Given the description of an element on the screen output the (x, y) to click on. 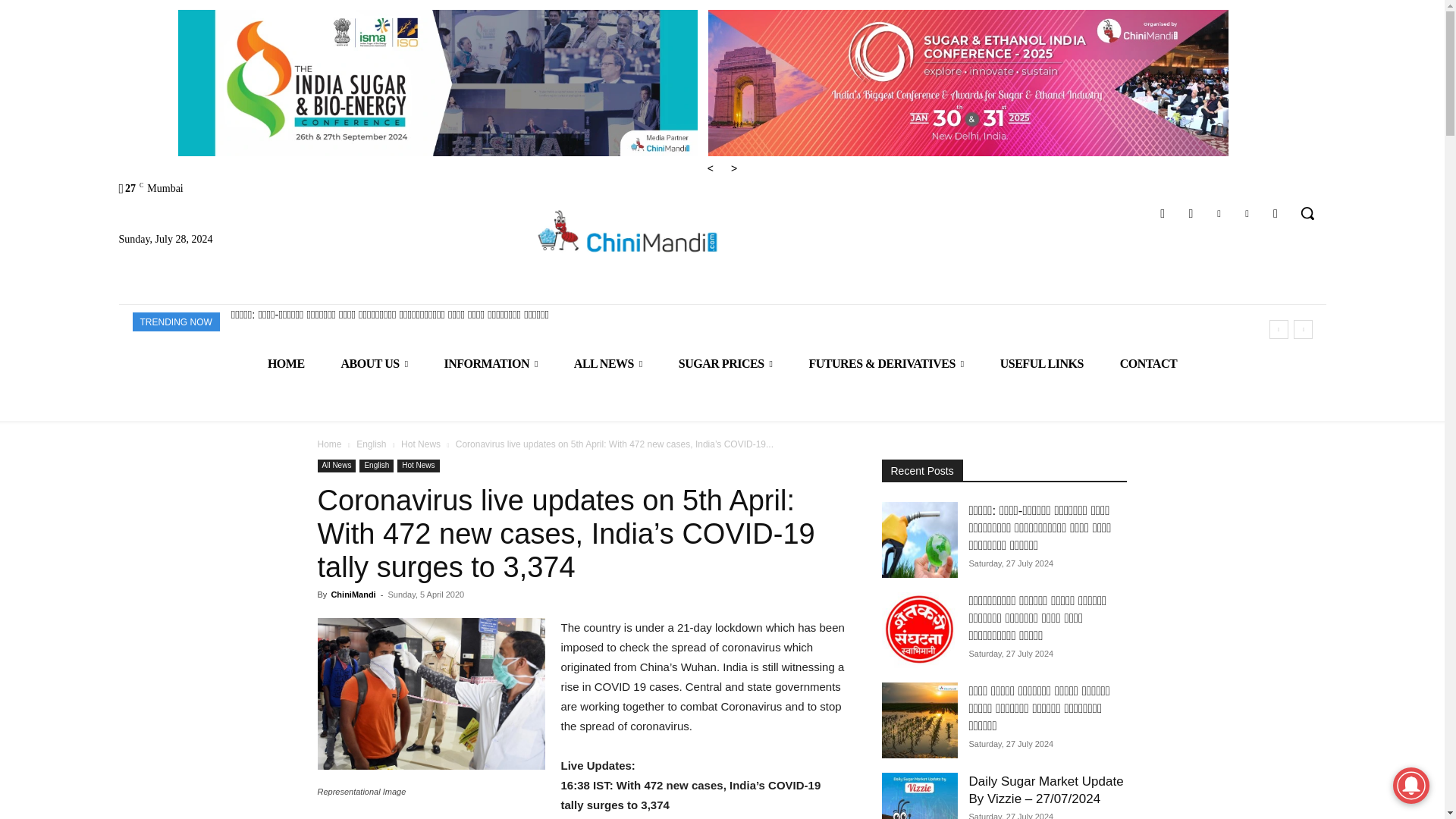
Twitter (1246, 213)
Facebook (1163, 213)
Instagram (1190, 213)
Youtube (1275, 213)
Linkedin (1218, 213)
